Given the description of an element on the screen output the (x, y) to click on. 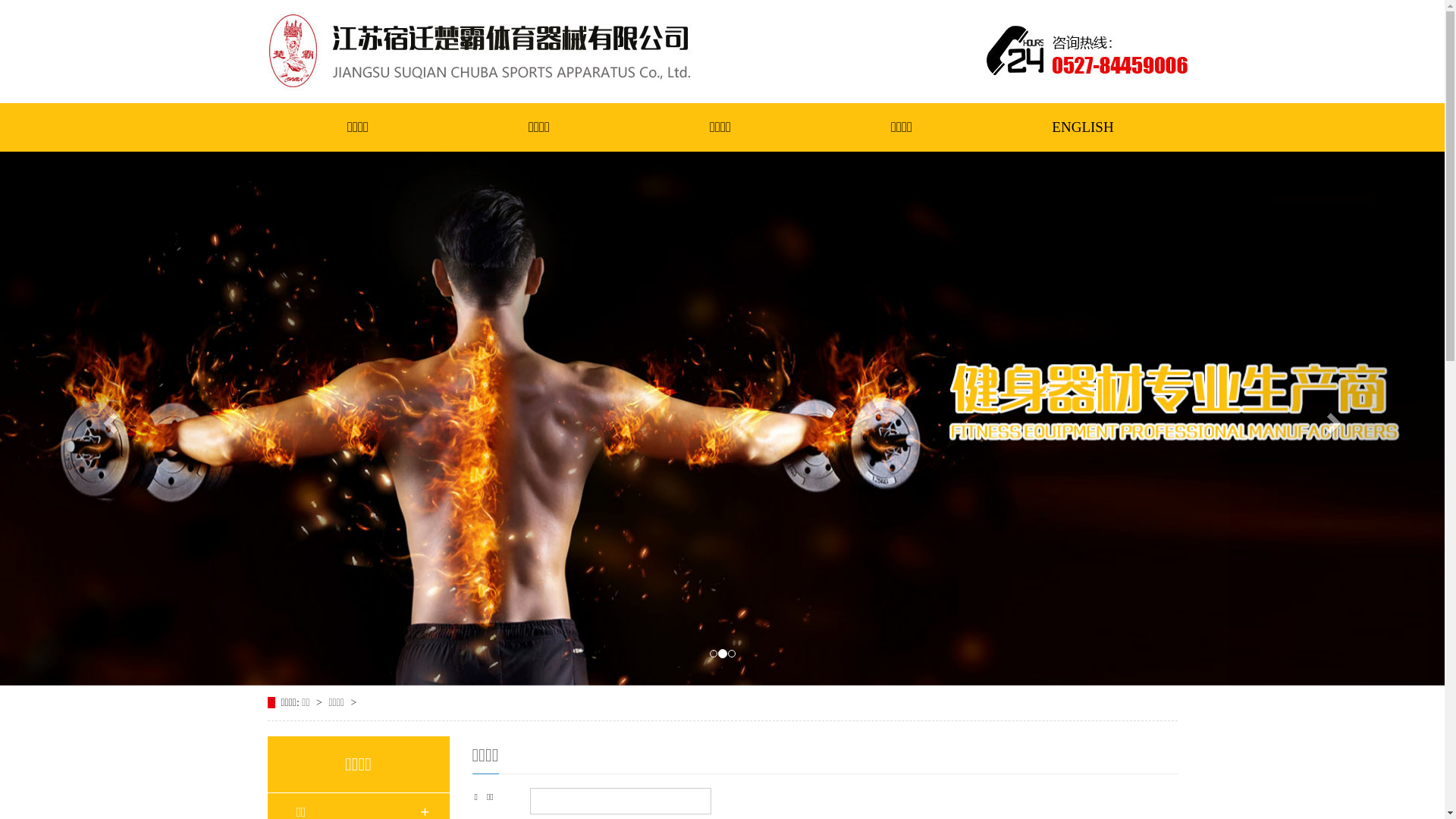
ENGLISH Element type: text (1082, 127)
